Given the description of an element on the screen output the (x, y) to click on. 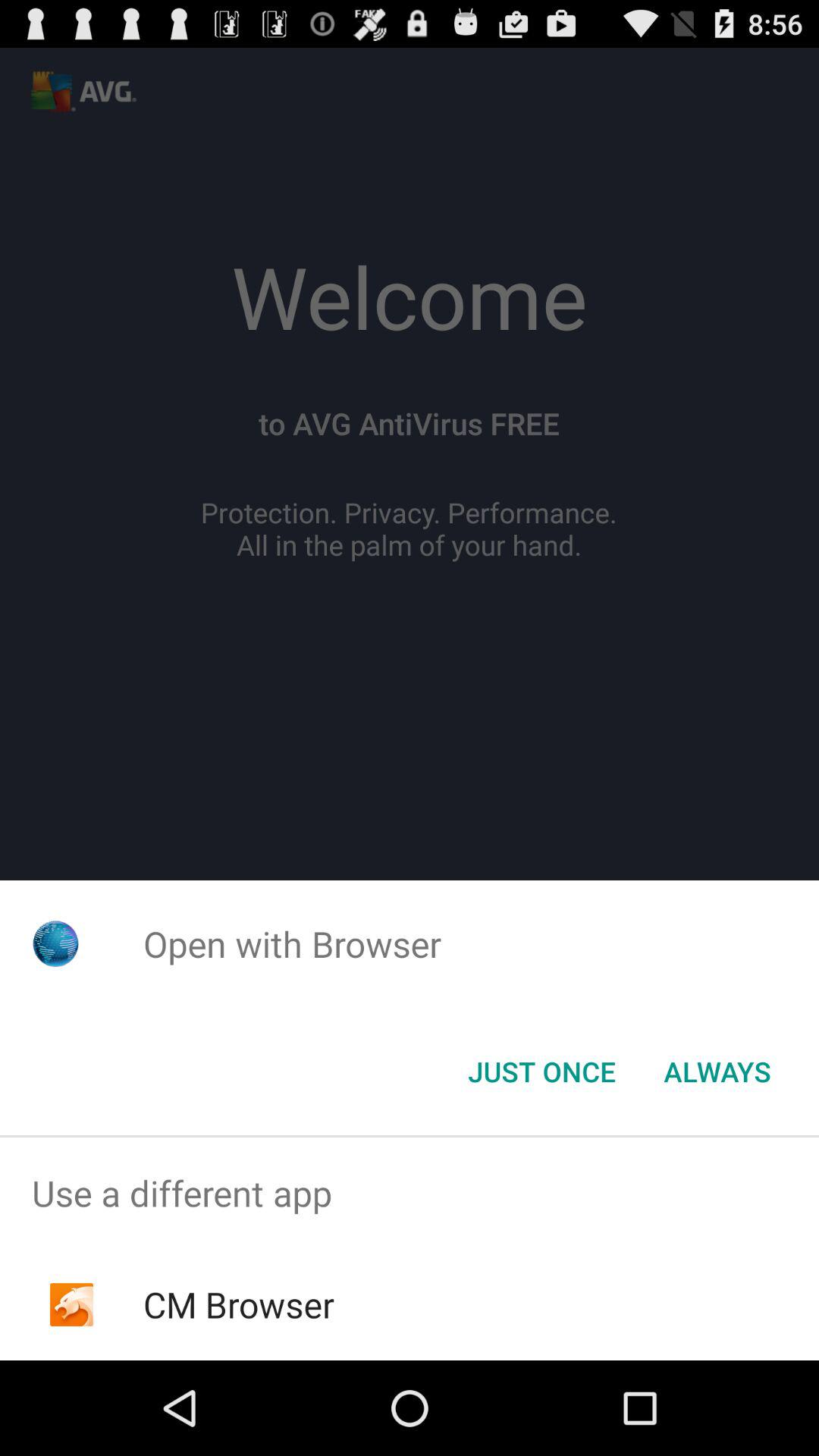
tap the just once item (541, 1071)
